Given the description of an element on the screen output the (x, y) to click on. 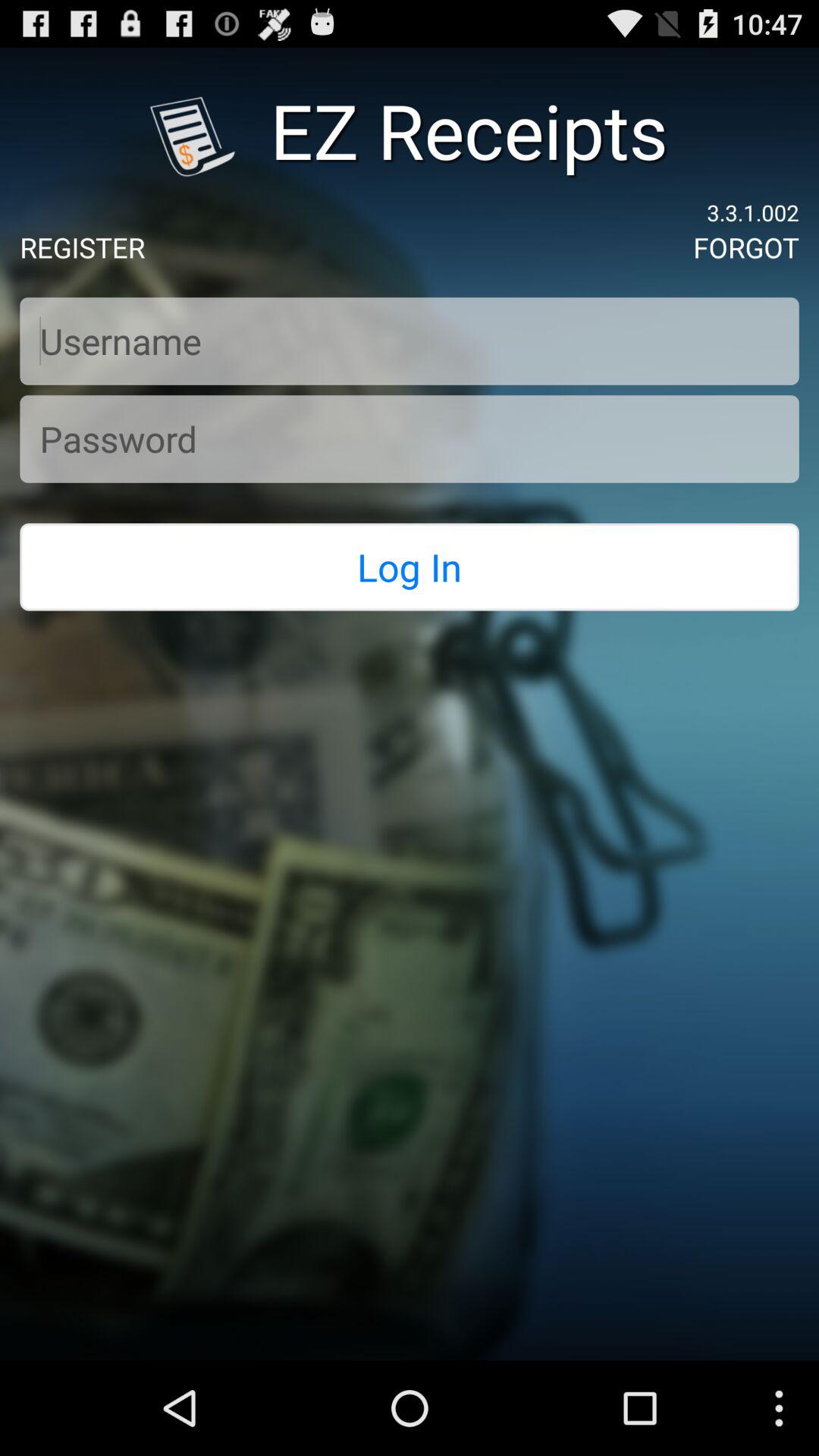
click icon next to the forgot (82, 247)
